Given the description of an element on the screen output the (x, y) to click on. 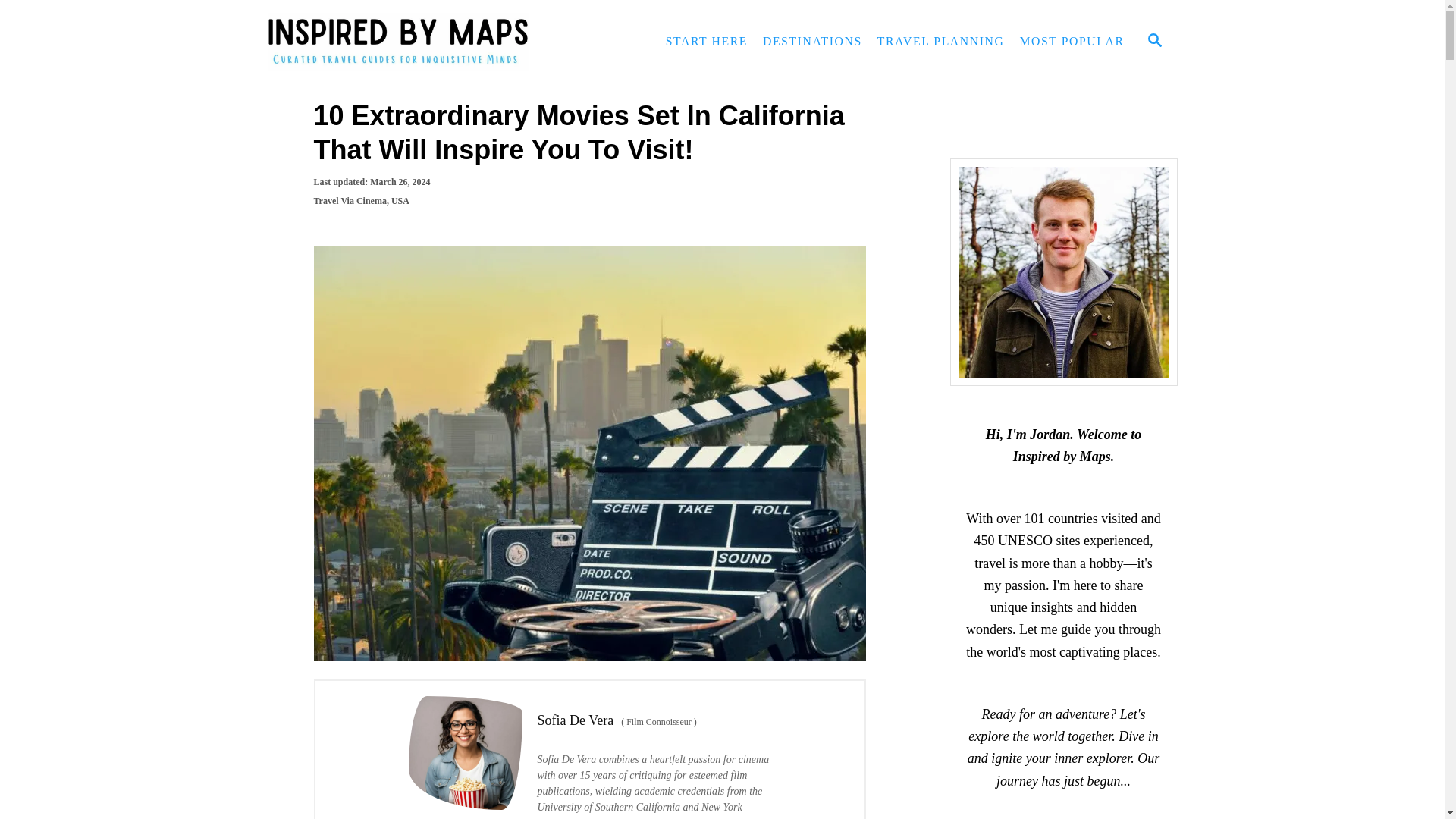
DESTINATIONS (812, 41)
SEARCH (1153, 40)
Inspired By Maps (403, 41)
START HERE (706, 41)
